Given the description of an element on the screen output the (x, y) to click on. 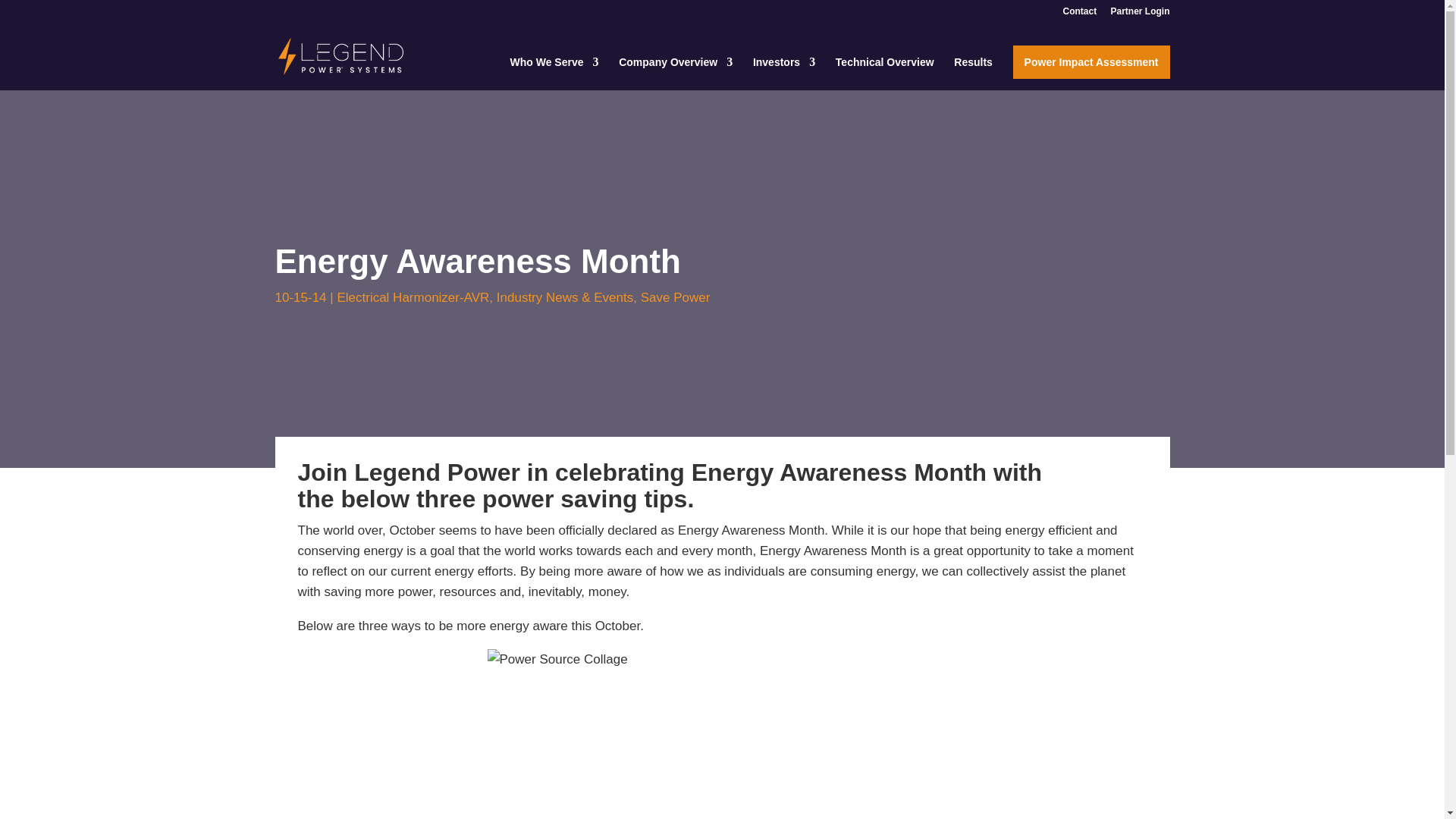
Company Overview (675, 73)
Power Impact Assessment (1091, 61)
Technical Overview (884, 73)
Partner Login (1139, 14)
Results (972, 73)
Investors (783, 73)
Contact (1079, 14)
Who We Serve (553, 73)
Save Power (675, 297)
Electrical Harmonizer-AVR (412, 297)
